Given the description of an element on the screen output the (x, y) to click on. 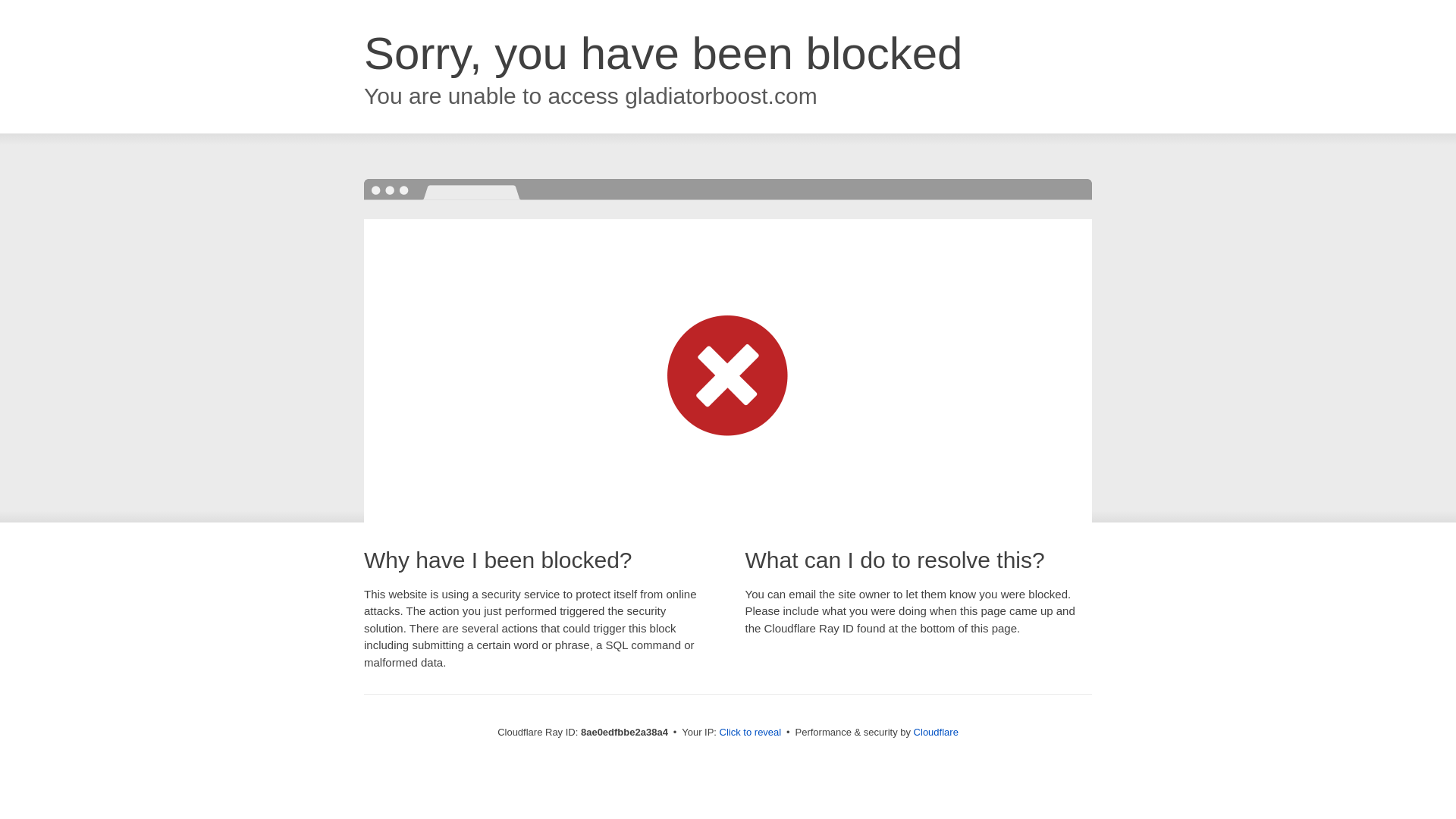
Click to reveal (750, 732)
Cloudflare (936, 731)
